Given the description of an element on the screen output the (x, y) to click on. 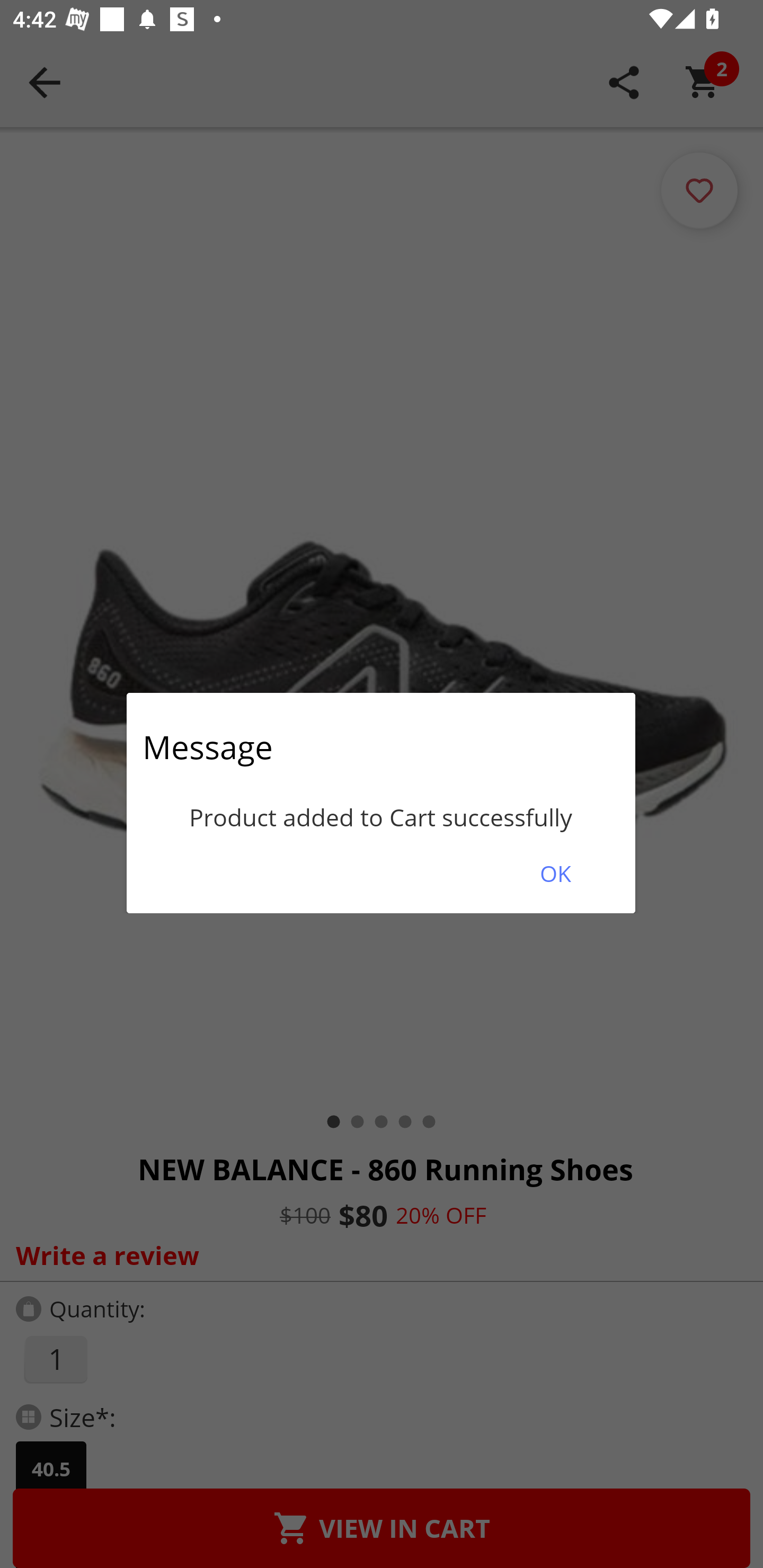
OK (555, 873)
